Given the description of an element on the screen output the (x, y) to click on. 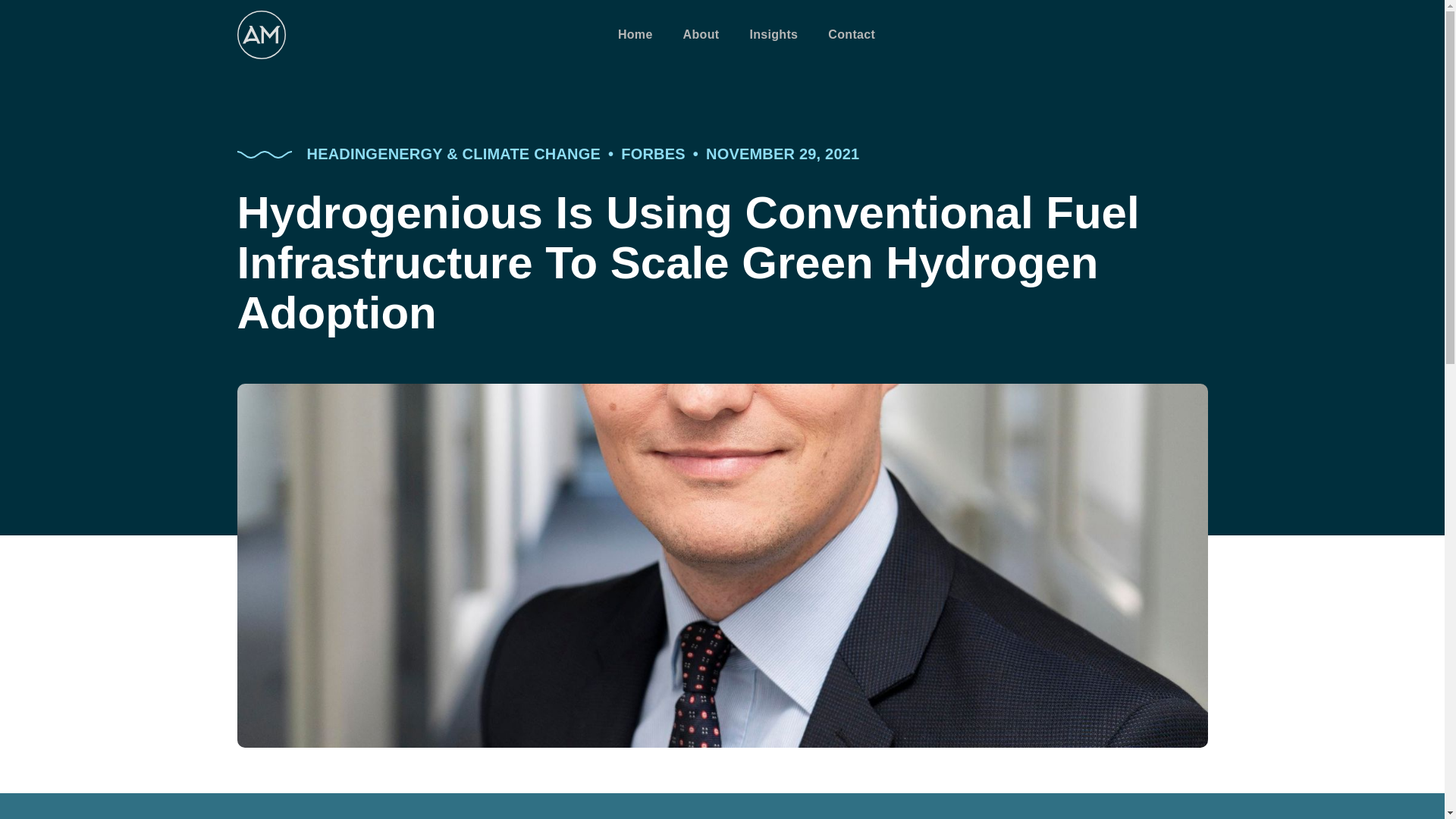
Contact Element type: text (851, 34)
About Element type: text (701, 34)
Insights Element type: text (773, 34)
Home Element type: text (635, 34)
